Given the description of an element on the screen output the (x, y) to click on. 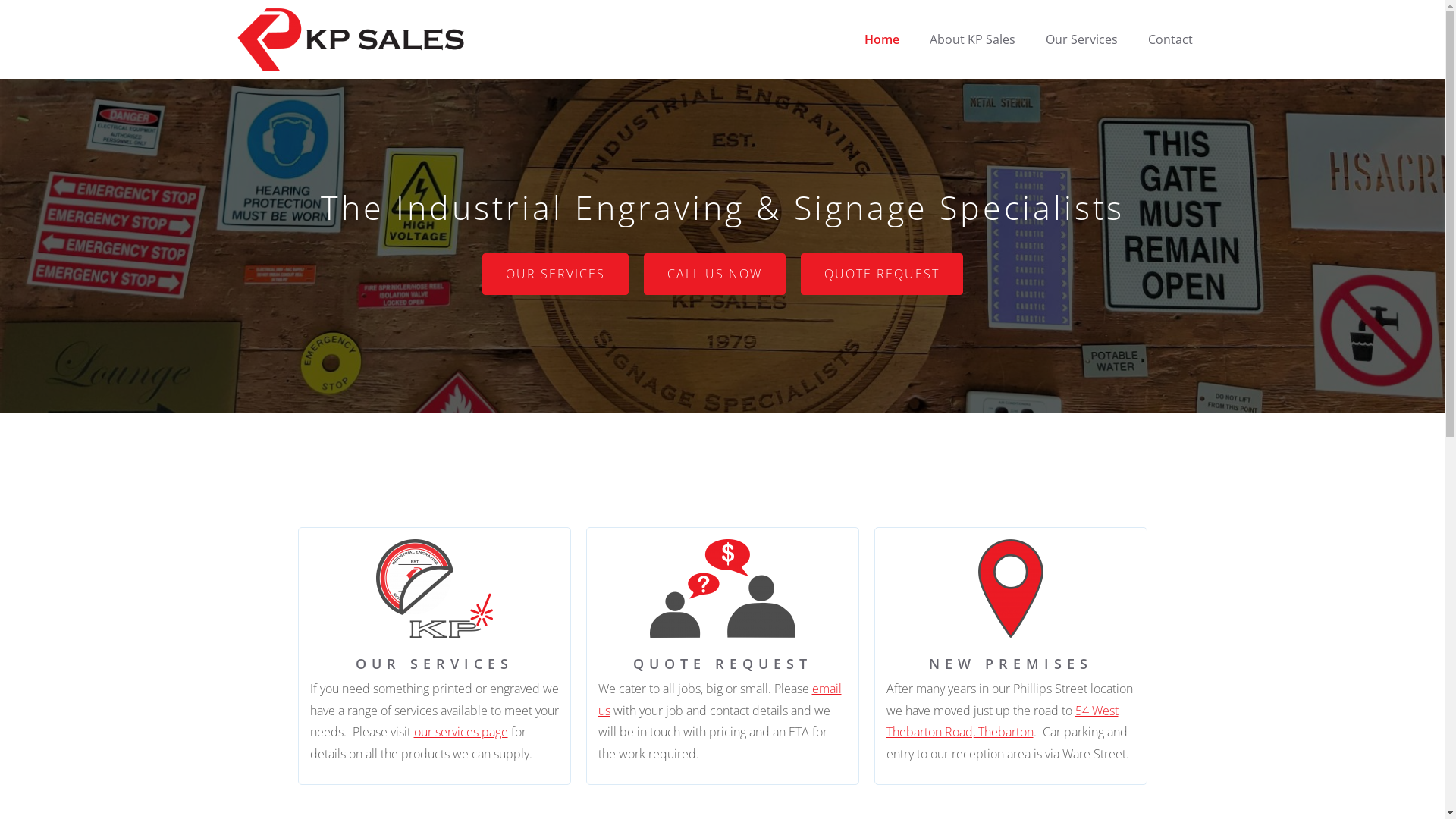
our services page Element type: text (461, 731)
54 West Thebarton Road, Thebarton Element type: text (1001, 721)
About KP Sales Element type: text (972, 39)
Contact Element type: text (1170, 39)
QUOTE REQUEST Element type: text (881, 273)
OUR SERVICES Element type: text (555, 273)
Our Services Element type: text (1080, 39)
email us Element type: text (718, 699)
CALL US NOW Element type: text (713, 273)
Home Element type: text (881, 39)
